Given the description of an element on the screen output the (x, y) to click on. 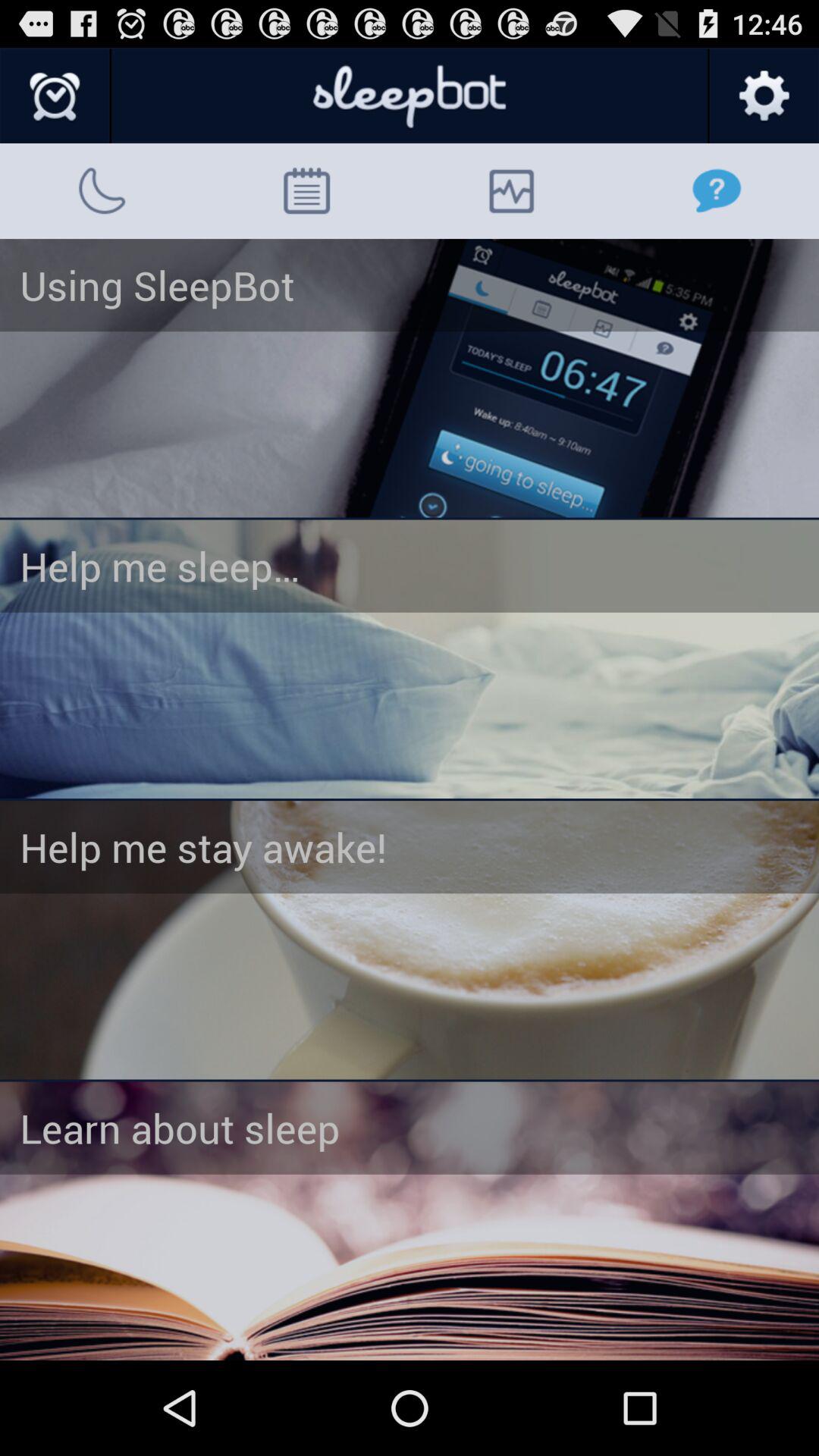
navigate to help me sleep (409, 658)
